Given the description of an element on the screen output the (x, y) to click on. 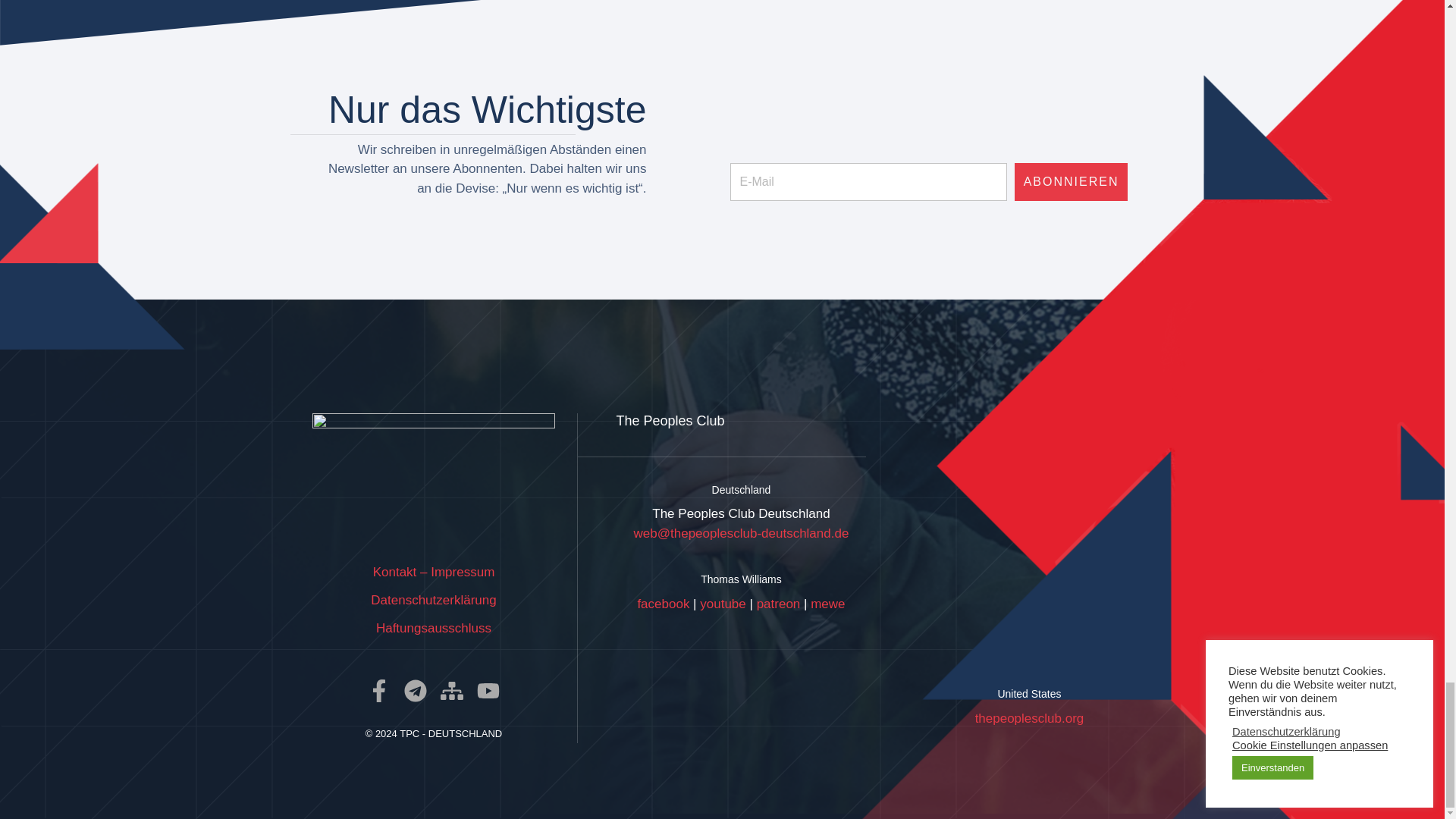
Abonnieren (1071, 181)
Abonnieren (1071, 181)
Haftungsausschluss (432, 628)
